Given the description of an element on the screen output the (x, y) to click on. 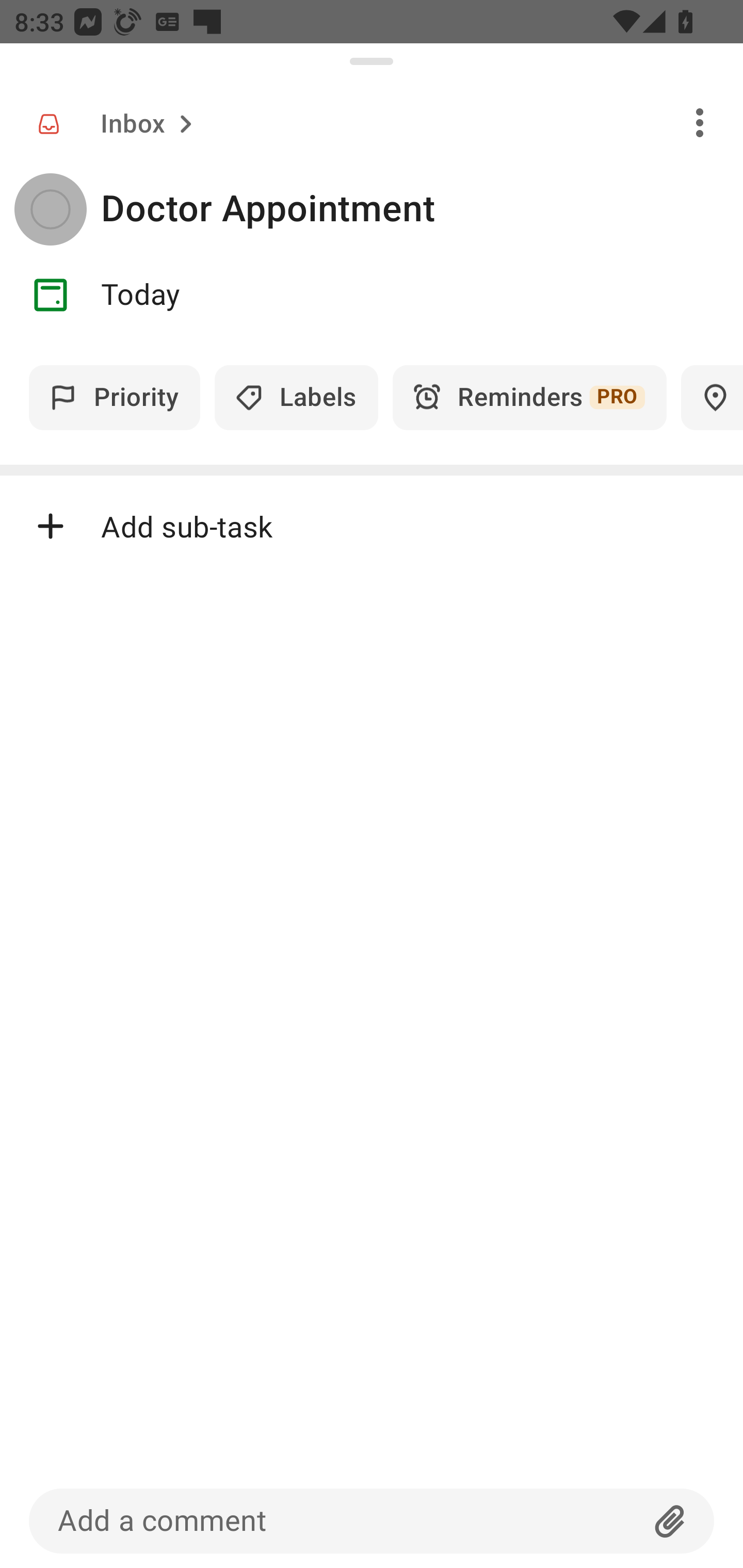
Overflow menu (699, 122)
Complete (50, 209)
Doctor Appointment​ (422, 209)
Date Today (371, 295)
Priority (113, 397)
Labels (296, 397)
Reminders PRO (529, 397)
Locations PRO (712, 397)
Add sub-task (371, 525)
Add a comment Attachment (371, 1520)
Attachment (670, 1520)
